Given the description of an element on the screen output the (x, y) to click on. 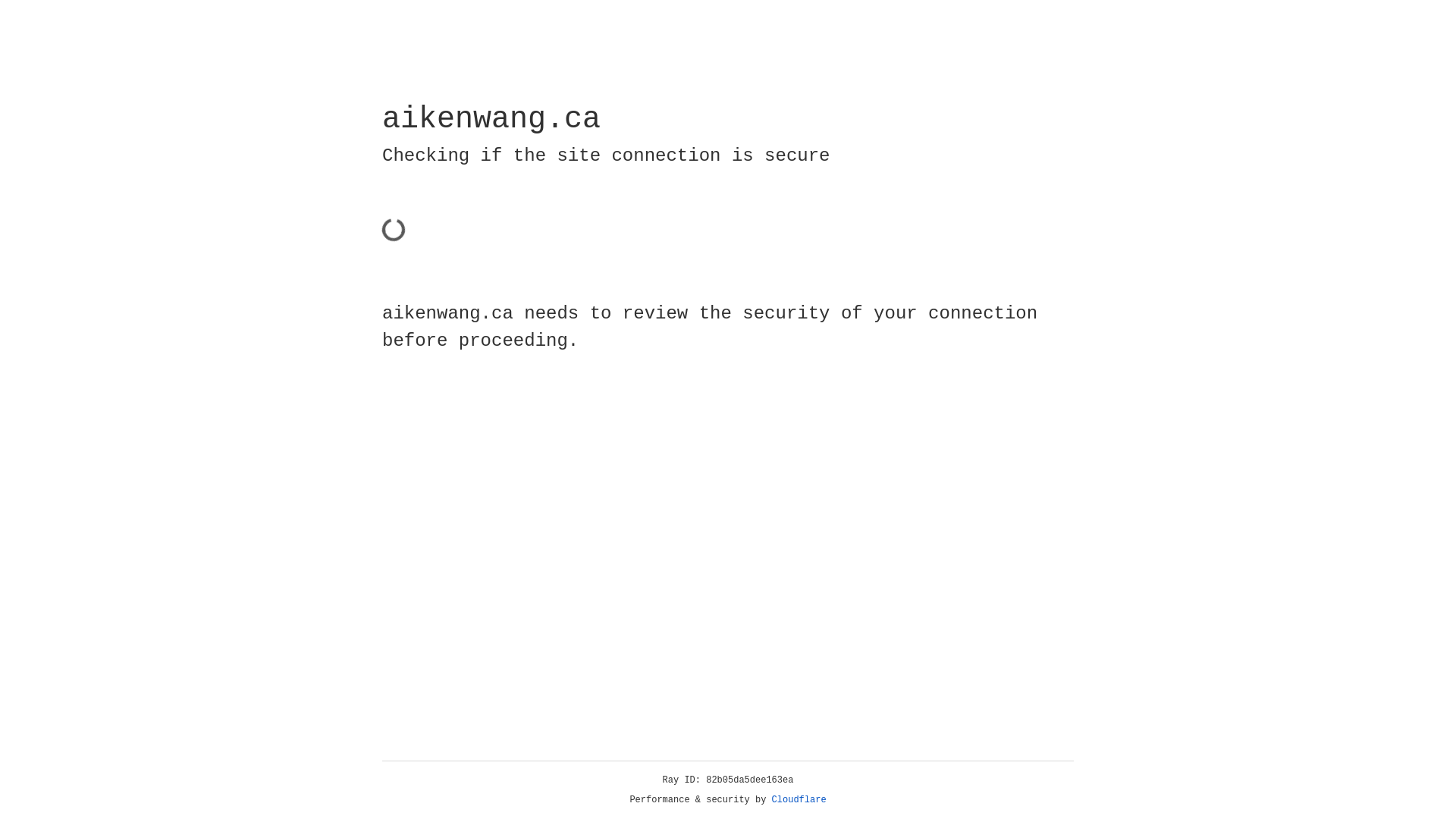
Cloudflare Element type: text (798, 799)
